Given the description of an element on the screen output the (x, y) to click on. 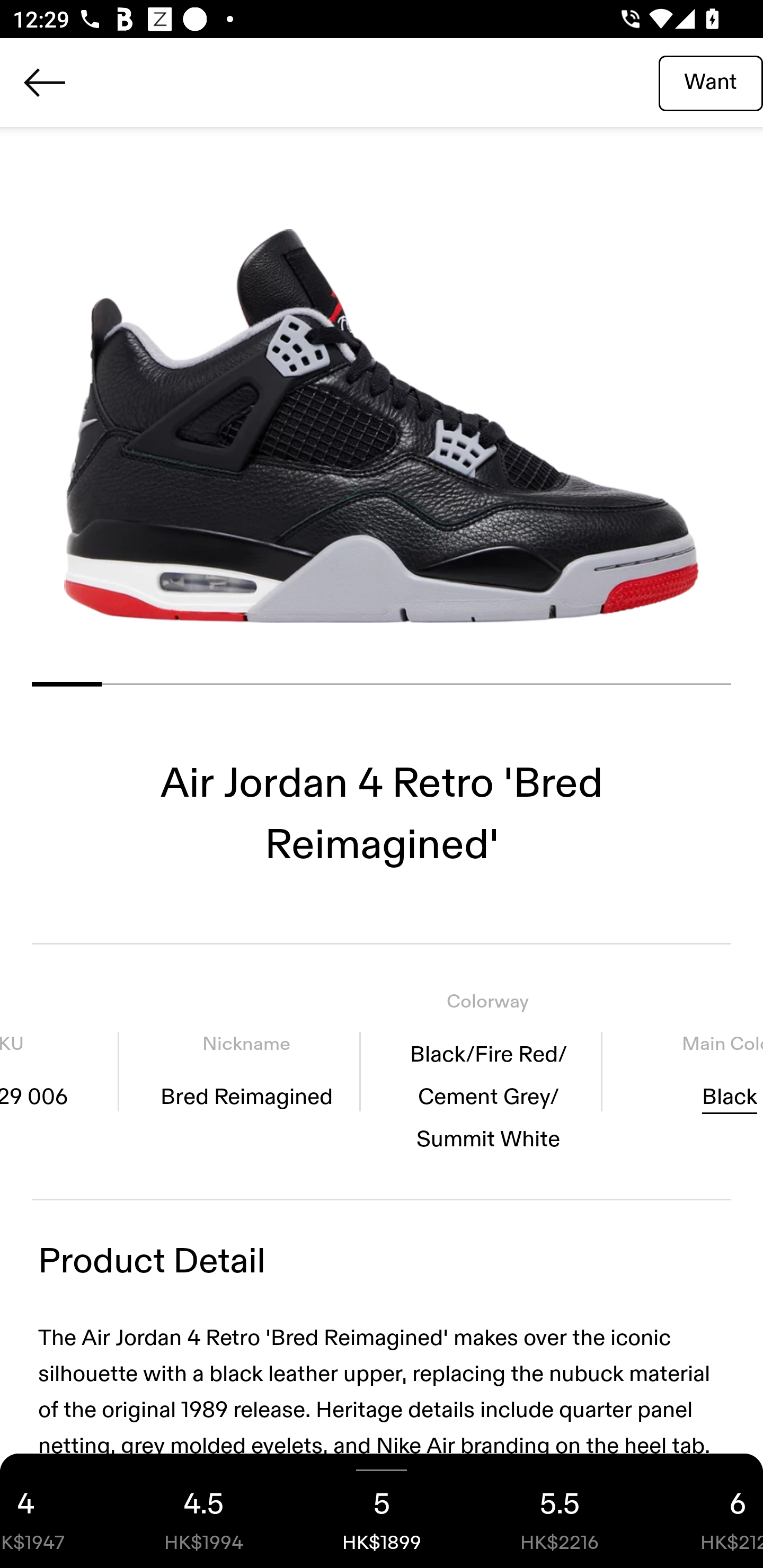
Want (710, 82)
SKU FV5029 006 (59, 1070)
Nickname Bred Reimagined (245, 1070)
Colorway Black/Fire Red/Cement Grey/Summit White (487, 1070)
Main Color Black (688, 1070)
4 HK$1947 (57, 1510)
4.5 HK$1994 (203, 1510)
5 HK$1899 (381, 1510)
5.5 HK$2216 (559, 1510)
6 HK$2121 (705, 1510)
